Given the description of an element on the screen output the (x, y) to click on. 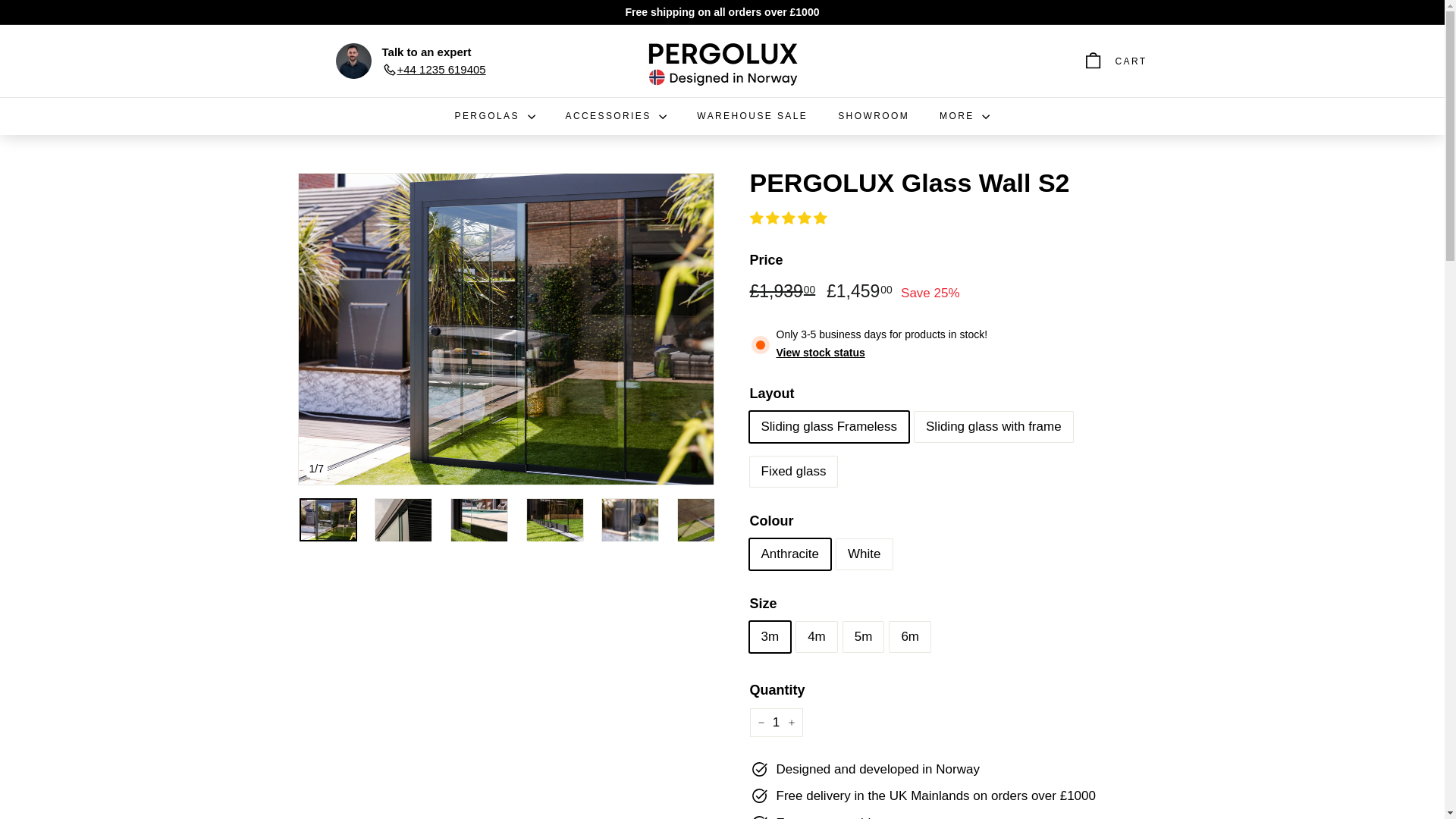
SHOWROOM (873, 116)
CART (1115, 60)
WAREHOUSE SALE (751, 116)
